Given the description of an element on the screen output the (x, y) to click on. 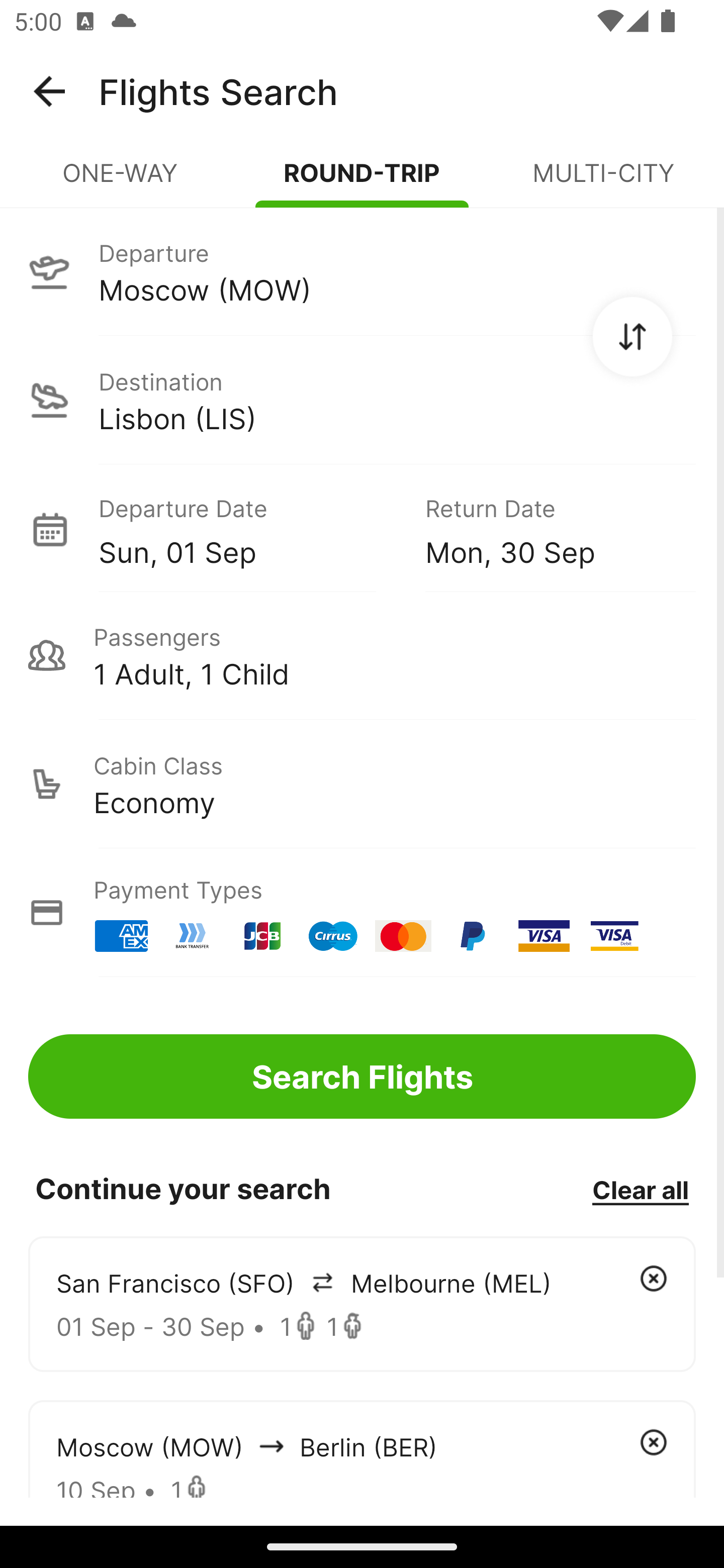
ONE-WAY (120, 180)
ROUND-TRIP (361, 180)
MULTI-CITY (603, 180)
Departure Moscow (MOW) (362, 270)
Destination Lisbon (LIS) (362, 400)
Departure Date Sun, 01 Sep (247, 528)
Return Date Mon, 30 Sep (546, 528)
Passengers 1 Adult, 1 Child (362, 655)
Cabin Class Economy (362, 783)
Payment Types (362, 912)
Search Flights (361, 1075)
Clear all (640, 1189)
Moscow (MOW)  arrowIcon  Berlin (BER) 10 Sep •  1  (361, 1448)
